Given the description of an element on the screen output the (x, y) to click on. 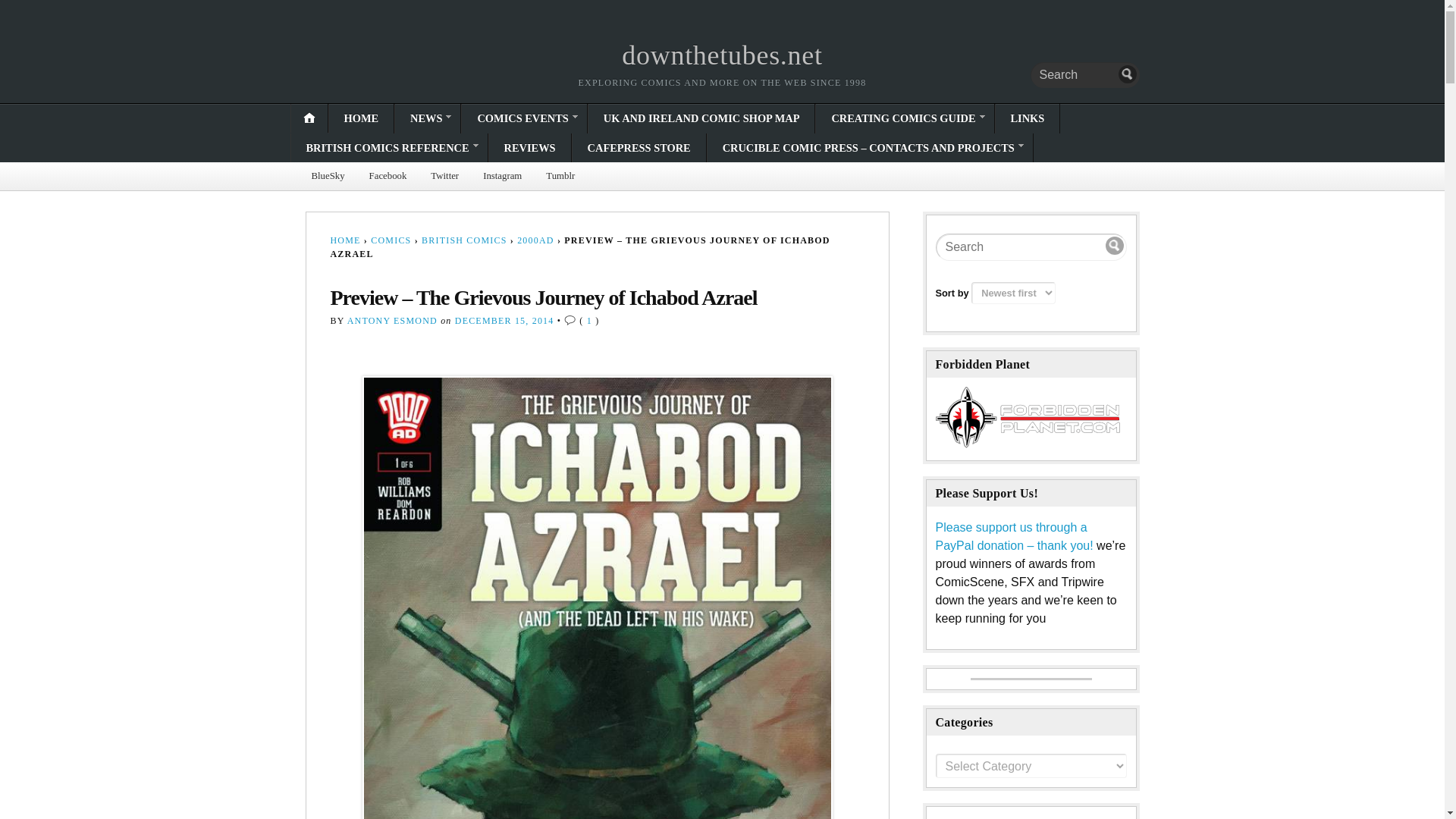
LINKS (1026, 118)
UK AND IRELAND COMIC SHOP MAP (701, 118)
BRITISH COMICS REFERENCE (389, 147)
View all posts by Antony Esmond (392, 320)
downthetubes.net (721, 55)
HOME (361, 118)
Home (721, 55)
2:54 pm (504, 320)
COMICS EVENTS (523, 118)
CREATING COMICS GUIDE (903, 118)
NEWS (427, 118)
